Given the description of an element on the screen output the (x, y) to click on. 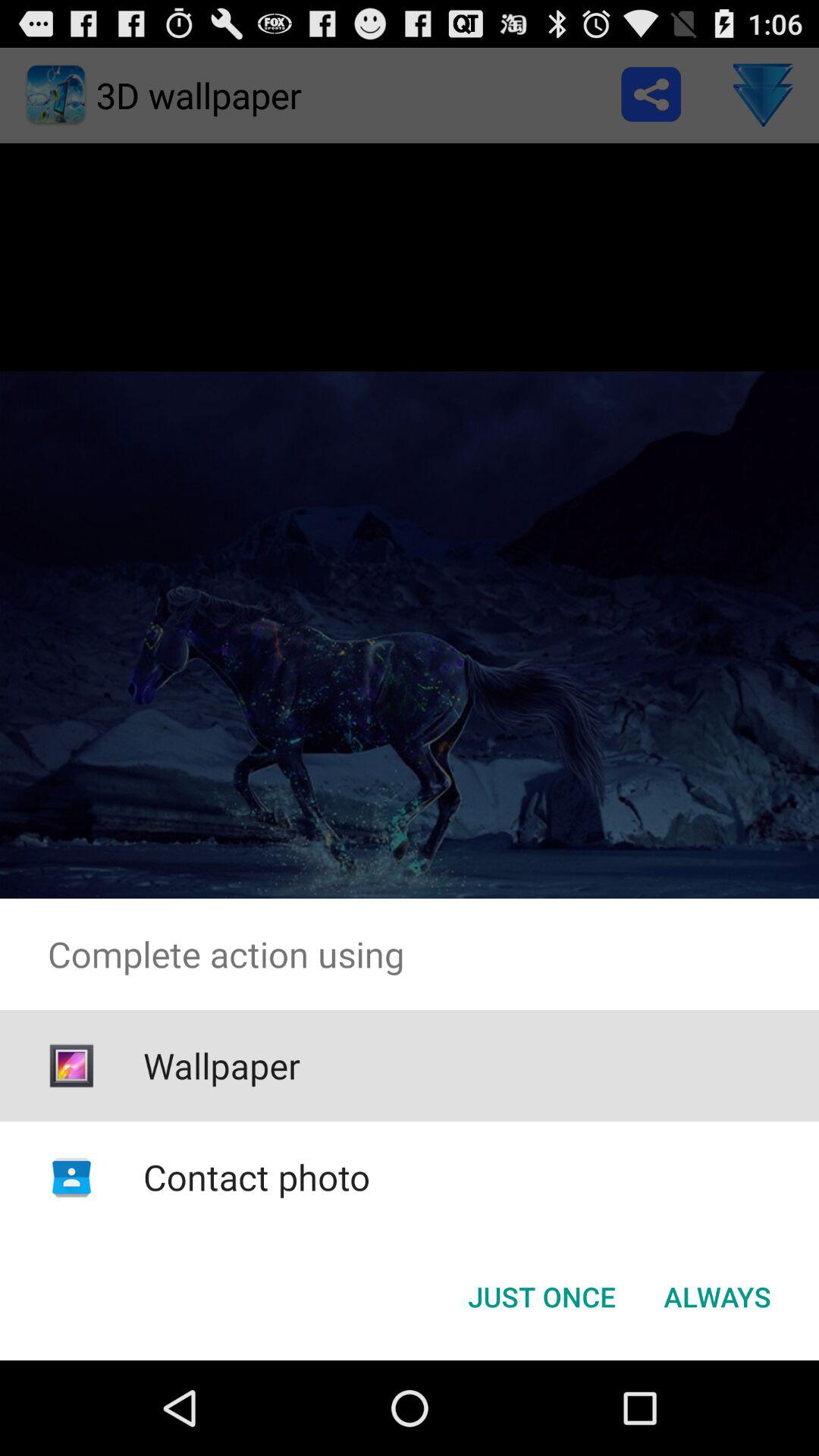
choose the app below complete action using (541, 1296)
